Given the description of an element on the screen output the (x, y) to click on. 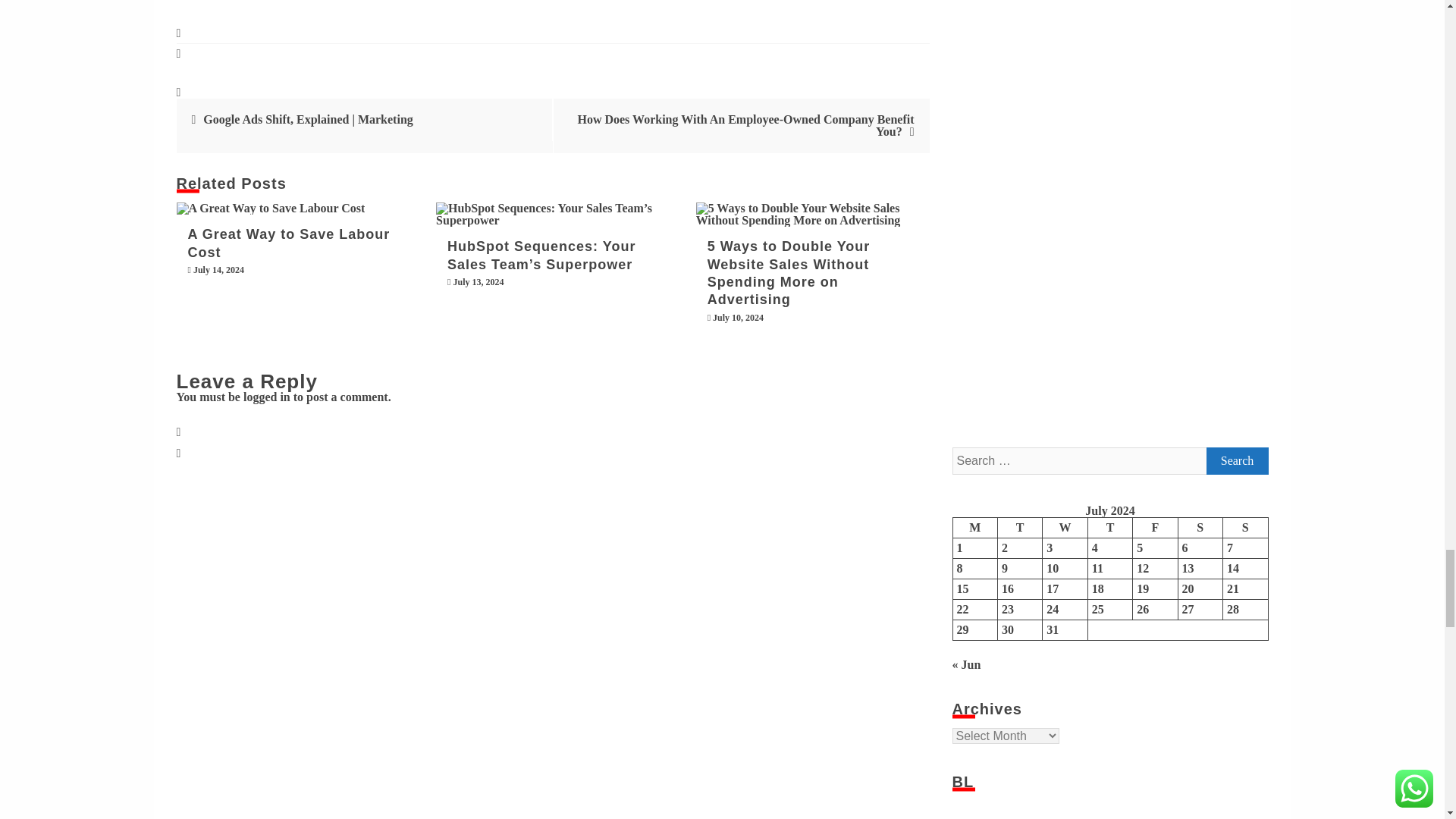
Search (1236, 461)
Search (1236, 461)
